Given the description of an element on the screen output the (x, y) to click on. 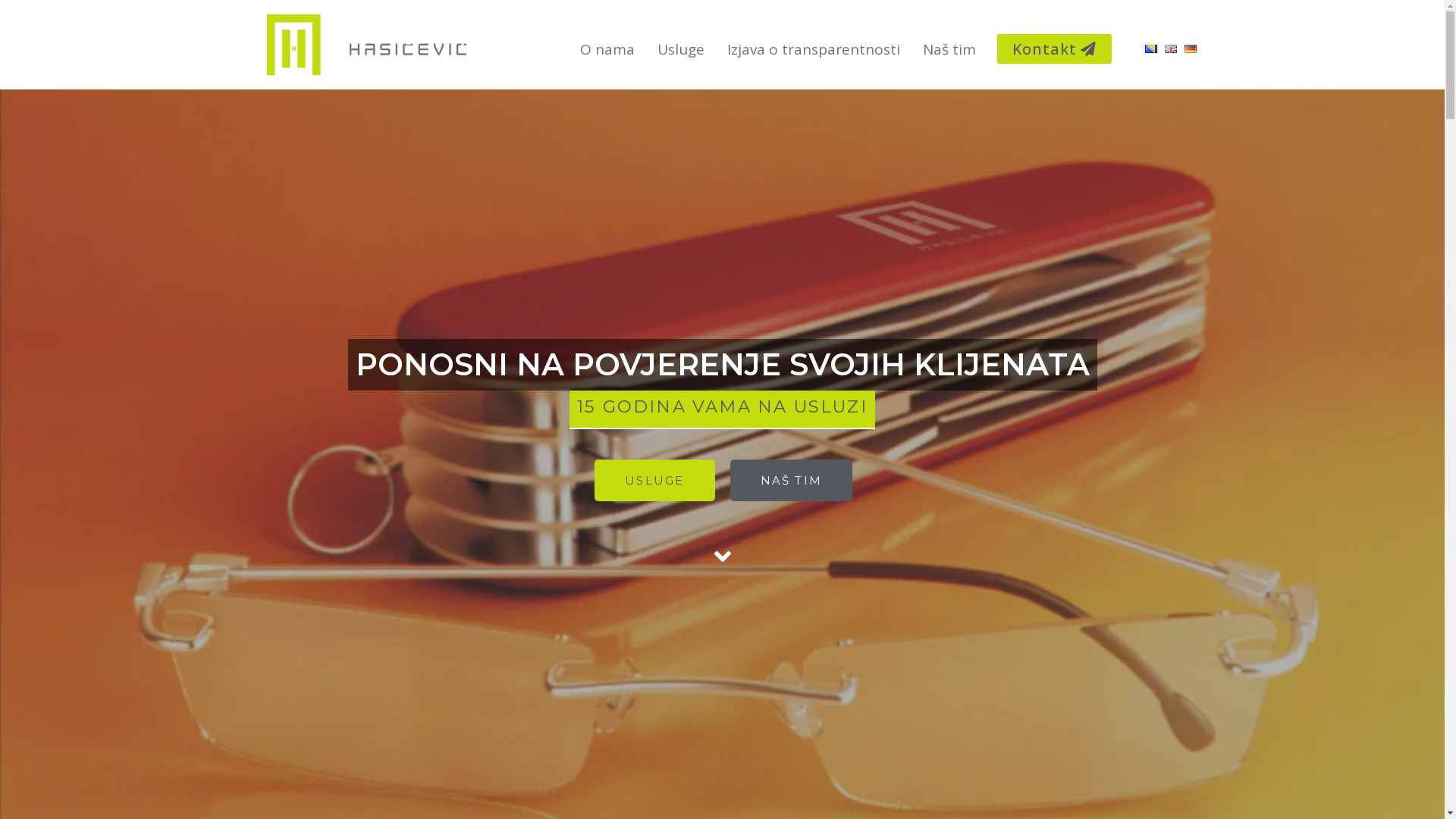
O nama Element type: text (607, 48)
Kontakt Element type: text (1054, 49)
Izjava o transparentnosti Element type: text (813, 48)
Usluge Element type: text (680, 48)
USLUGE Element type: text (654, 480)
